Given the description of an element on the screen output the (x, y) to click on. 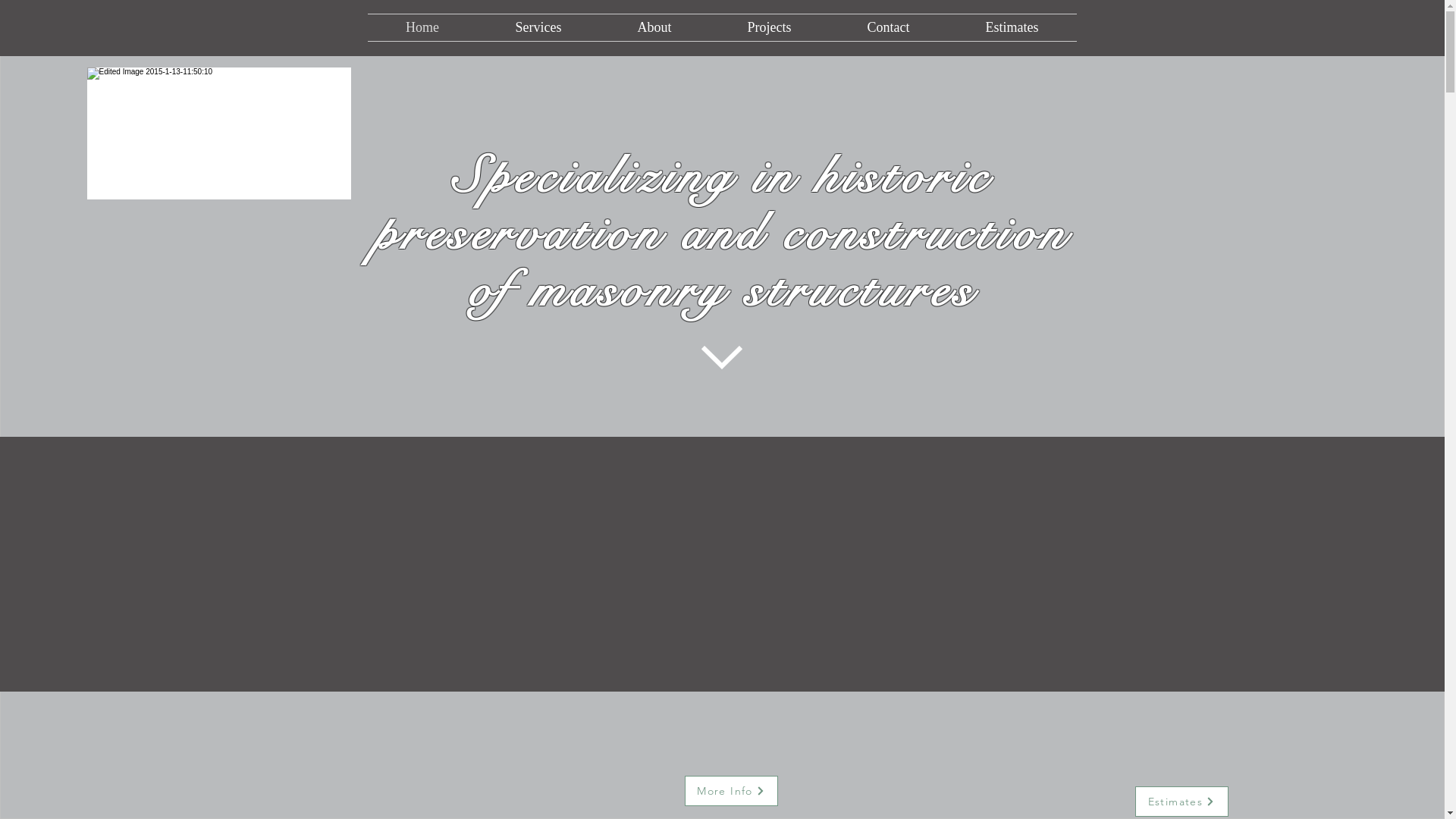
Estimates Element type: text (1011, 27)
Contact Element type: text (888, 27)
Services Element type: text (538, 27)
About Element type: text (654, 27)
Home Element type: text (421, 27)
Projects Element type: text (769, 27)
More Info Element type: text (730, 790)
Estimates Element type: text (1180, 801)
